Given the description of an element on the screen output the (x, y) to click on. 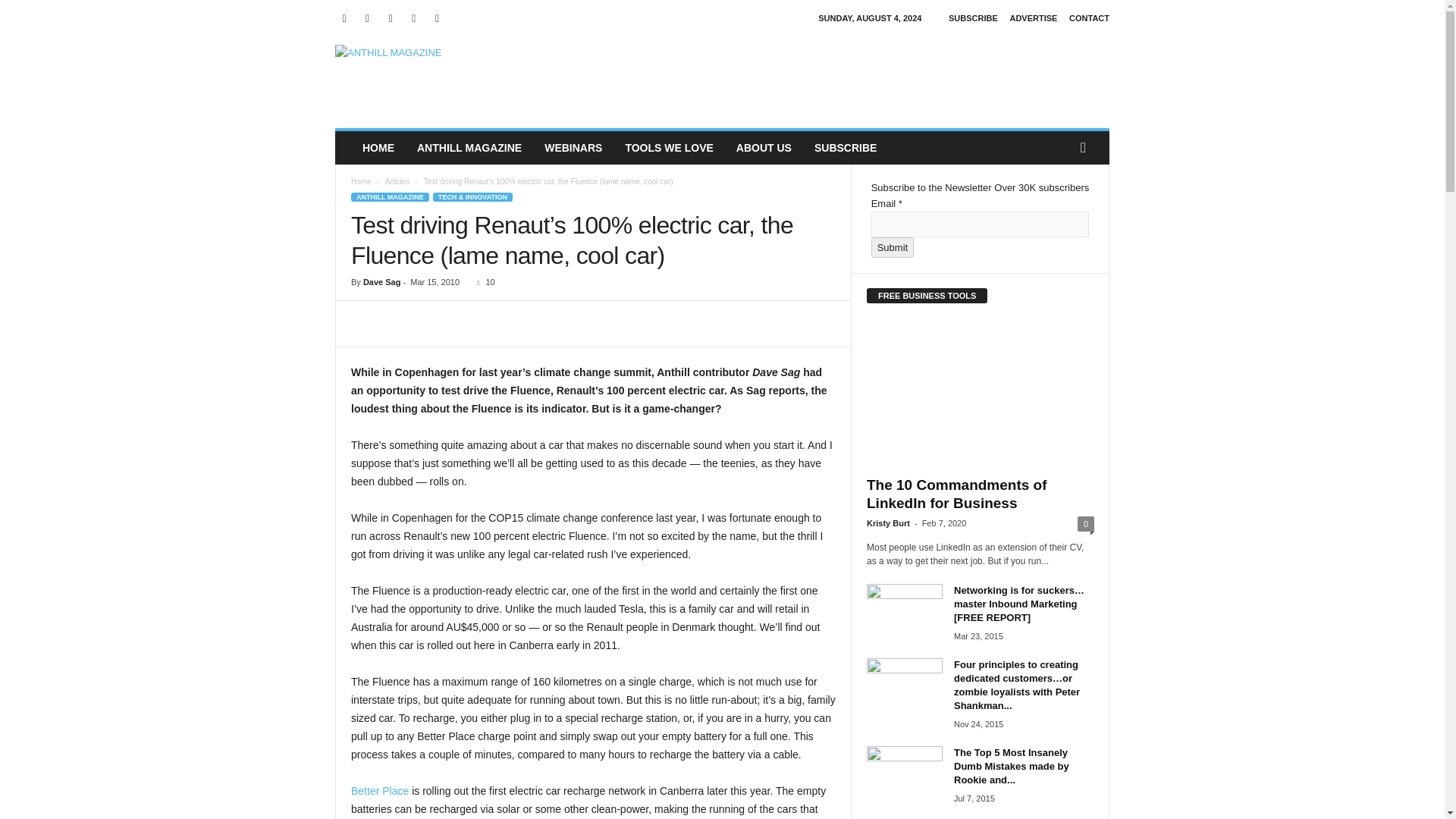
View all posts in Articles (397, 181)
CONTACT (1088, 17)
SUBSCRIBE (973, 17)
ADVERTISE (1033, 17)
